Given the description of an element on the screen output the (x, y) to click on. 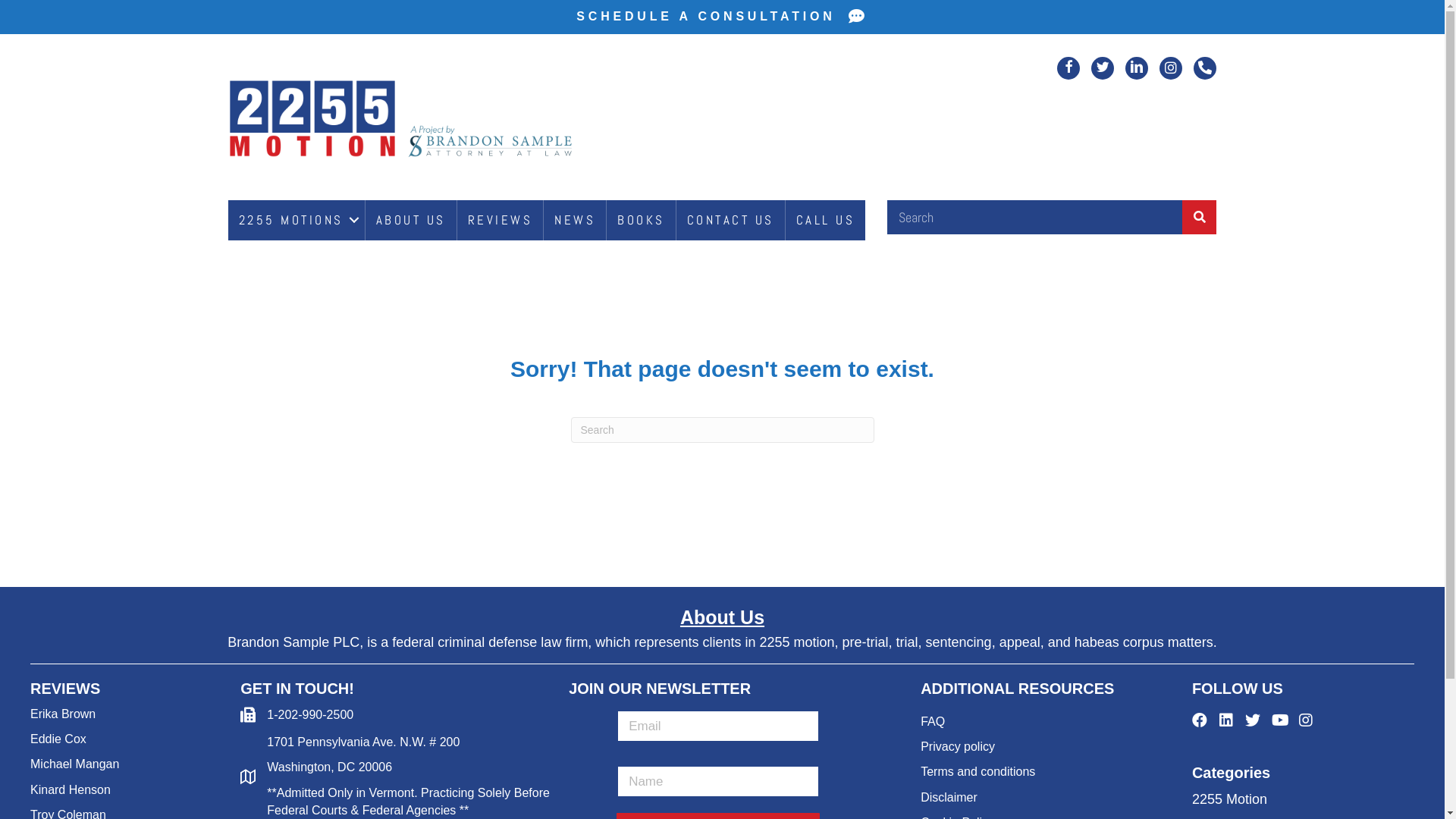
Michael Mangan Element type: text (74, 763)
BOOKS Element type: text (640, 220)
REVIEWS Element type: text (499, 220)
Instagram Element type: hover (1305, 720)
2255 MOTIONS Element type: text (295, 220)
FAQ Element type: text (932, 721)
Search Element type: hover (1035, 217)
Terms and conditions Element type: text (977, 771)
Eddie Cox Element type: text (58, 738)
Disclaimer  Element type: text (950, 796)
SCHEDULE A CONSULTATION Element type: text (722, 17)
2255 Motion Element type: text (1229, 798)
Privacy policy Element type: text (957, 746)
Facebook Element type: hover (1199, 720)
Erika Brown Element type: text (62, 713)
CONTACT US Element type: text (730, 220)
NEWS Element type: text (574, 220)
LinkedIn Element type: hover (1225, 720)
ABOUT US Element type: text (410, 220)
2255 Motion Element type: hover (402, 120)
Twitter Element type: hover (1252, 720)
CALL US Element type: text (825, 220)
Type and press Enter to search. Element type: hover (721, 429)
Kinard Henson Element type: text (70, 789)
YouTube Element type: hover (1278, 720)
